Given the description of an element on the screen output the (x, y) to click on. 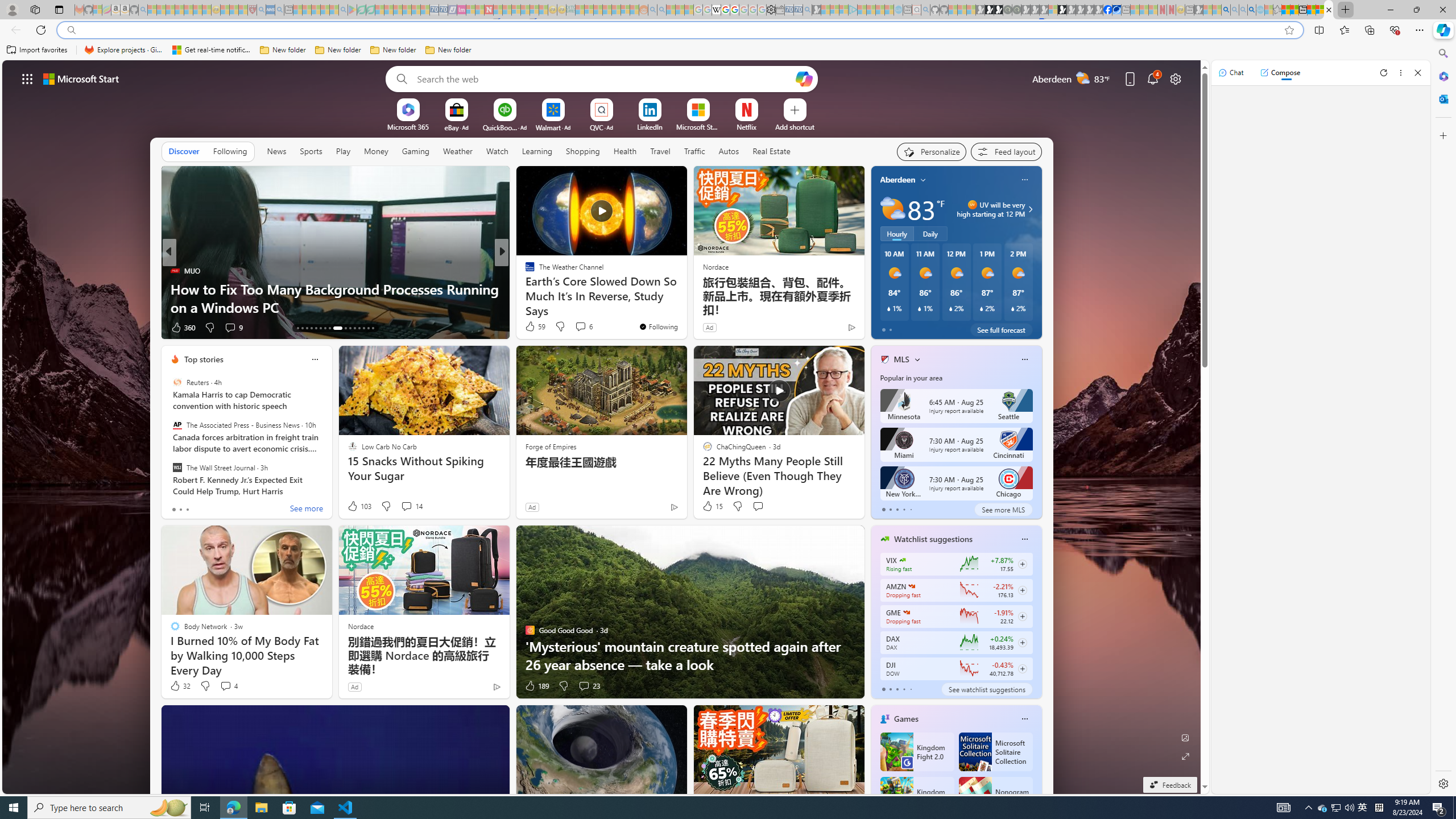
360 Like (182, 327)
Learning (536, 151)
Favorites - Sleeping (1277, 9)
Real Estate (771, 151)
AutomationID: tab-26 (363, 328)
Netflix (746, 126)
